Given the description of an element on the screen output the (x, y) to click on. 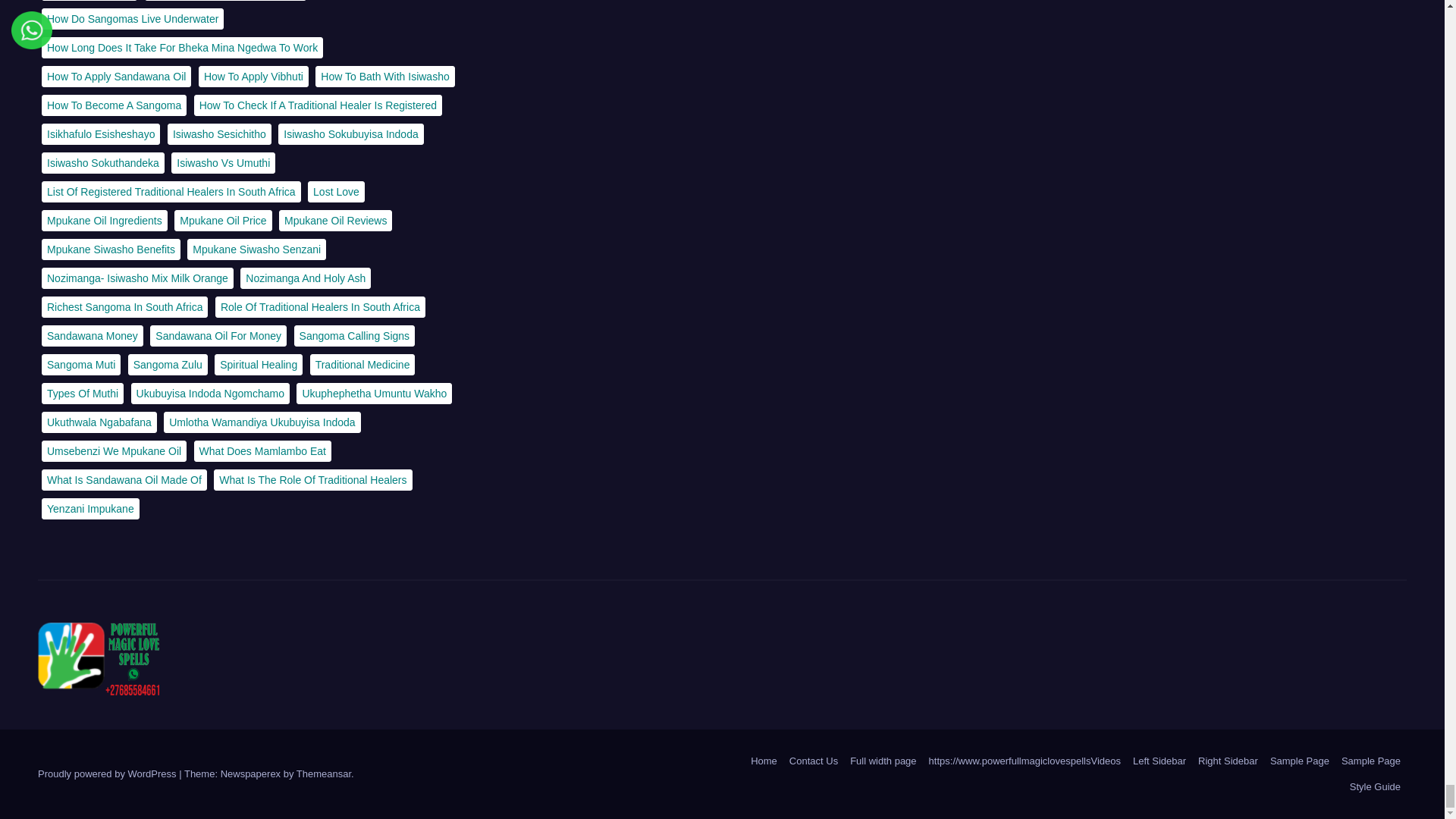
Home (763, 760)
